Given the description of an element on the screen output the (x, y) to click on. 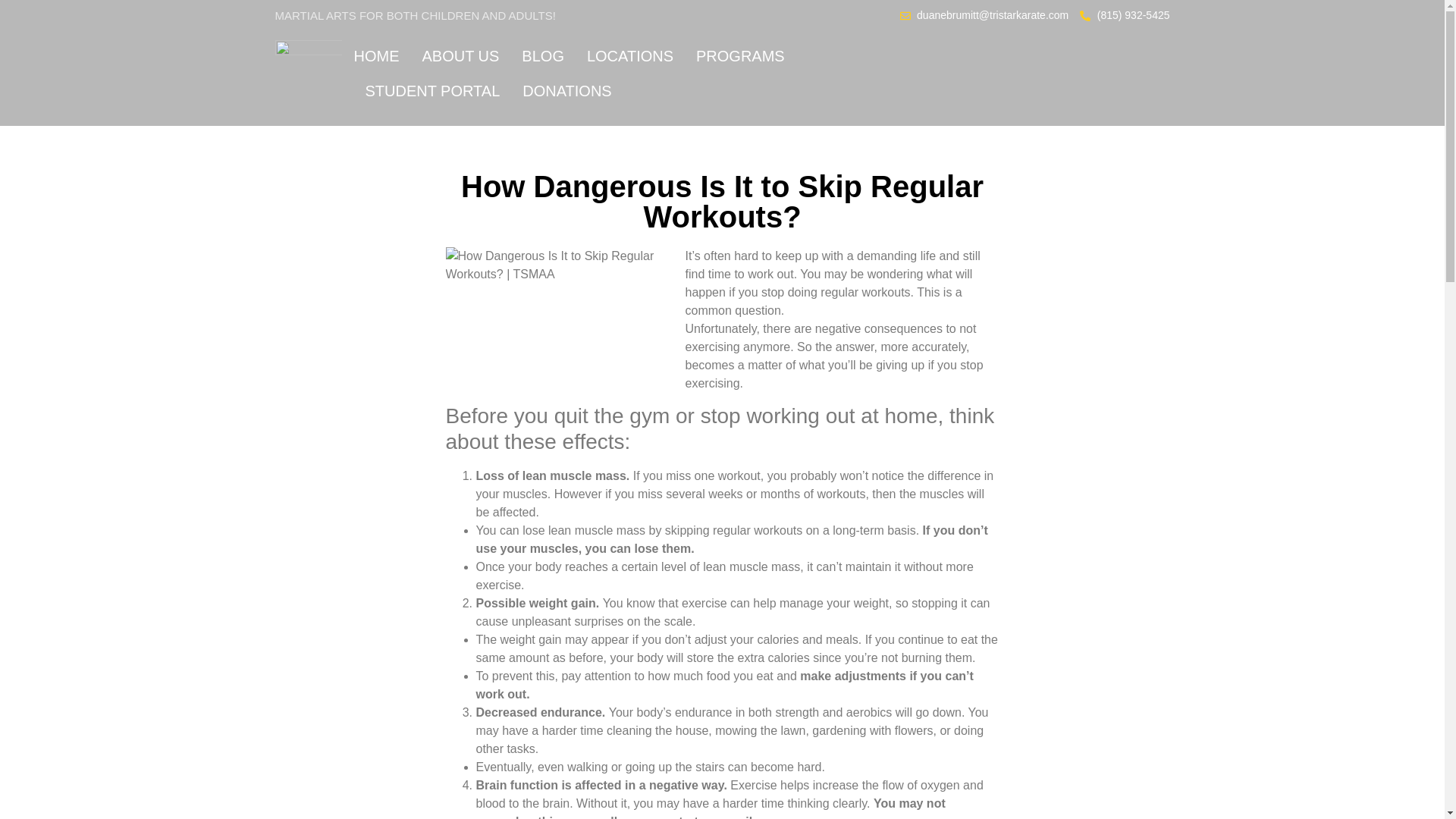
LOCATIONS (629, 55)
PROGRAMS (739, 55)
STUDENT PORTAL (432, 90)
BLOG (542, 55)
DONATIONS (566, 90)
HOME (375, 55)
ABOUT US (460, 55)
